Given the description of an element on the screen output the (x, y) to click on. 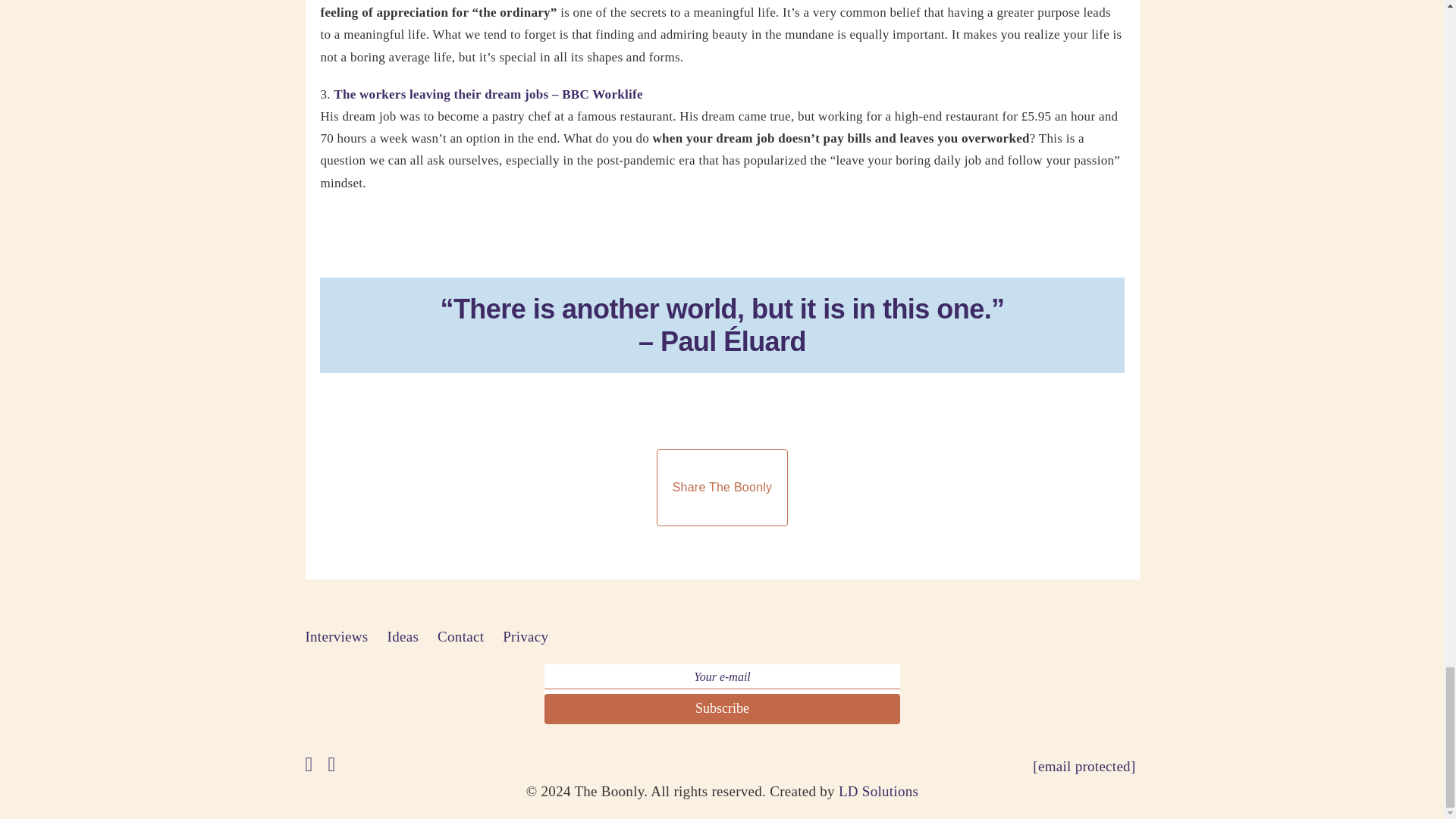
Share The Boonly (722, 486)
Contact (460, 637)
Ideas (403, 637)
Subscribe (721, 708)
Privacy (525, 637)
X (308, 764)
Subscribe (721, 708)
LD Solutions (878, 790)
Instagram (332, 764)
Interviews (336, 637)
